Given the description of an element on the screen output the (x, y) to click on. 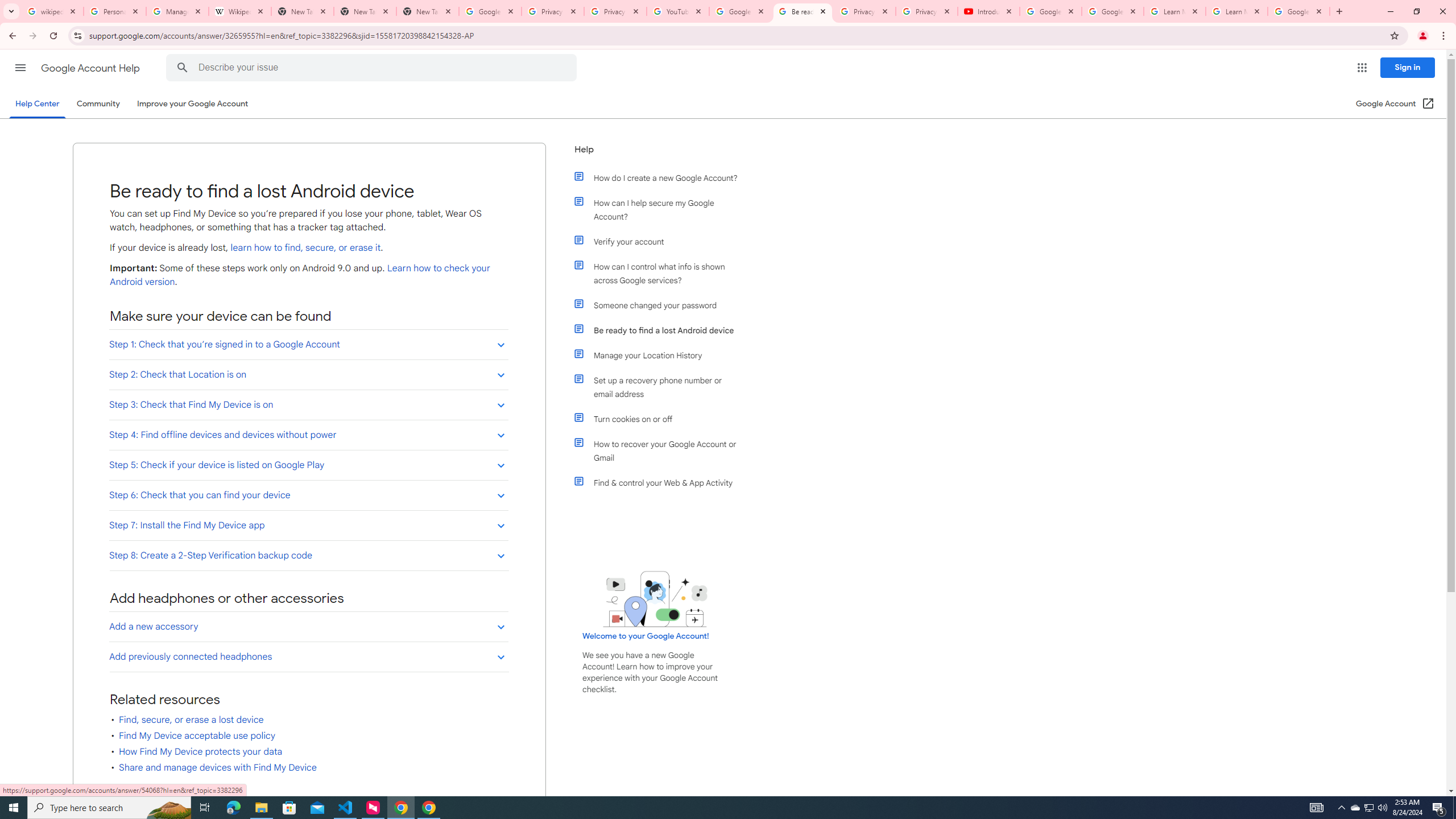
Find My Device acceptable use policy (197, 736)
Search Help Center (181, 67)
Google Account Help (1111, 11)
Turn cookies on or off (661, 419)
Find, secure, or erase a lost device (191, 719)
Be ready to find a lost Android device (661, 330)
New Tab (427, 11)
Wikipedia:Edit requests - Wikipedia (239, 11)
How do I create a new Google Account? (661, 177)
Step 7: Install the Find My Device app (308, 525)
